Given the description of an element on the screen output the (x, y) to click on. 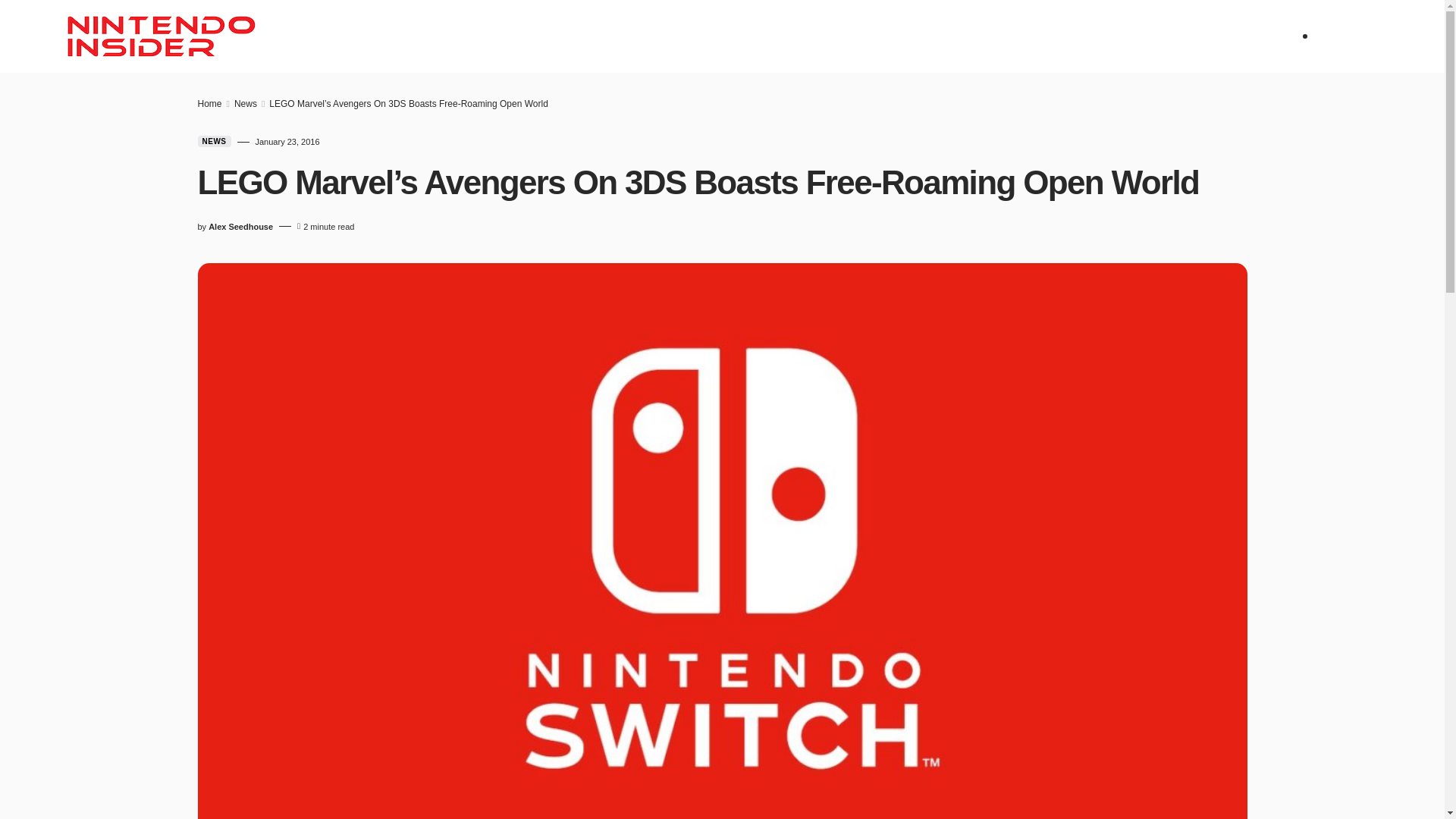
View all posts by Alex Seedhouse (240, 226)
